Given the description of an element on the screen output the (x, y) to click on. 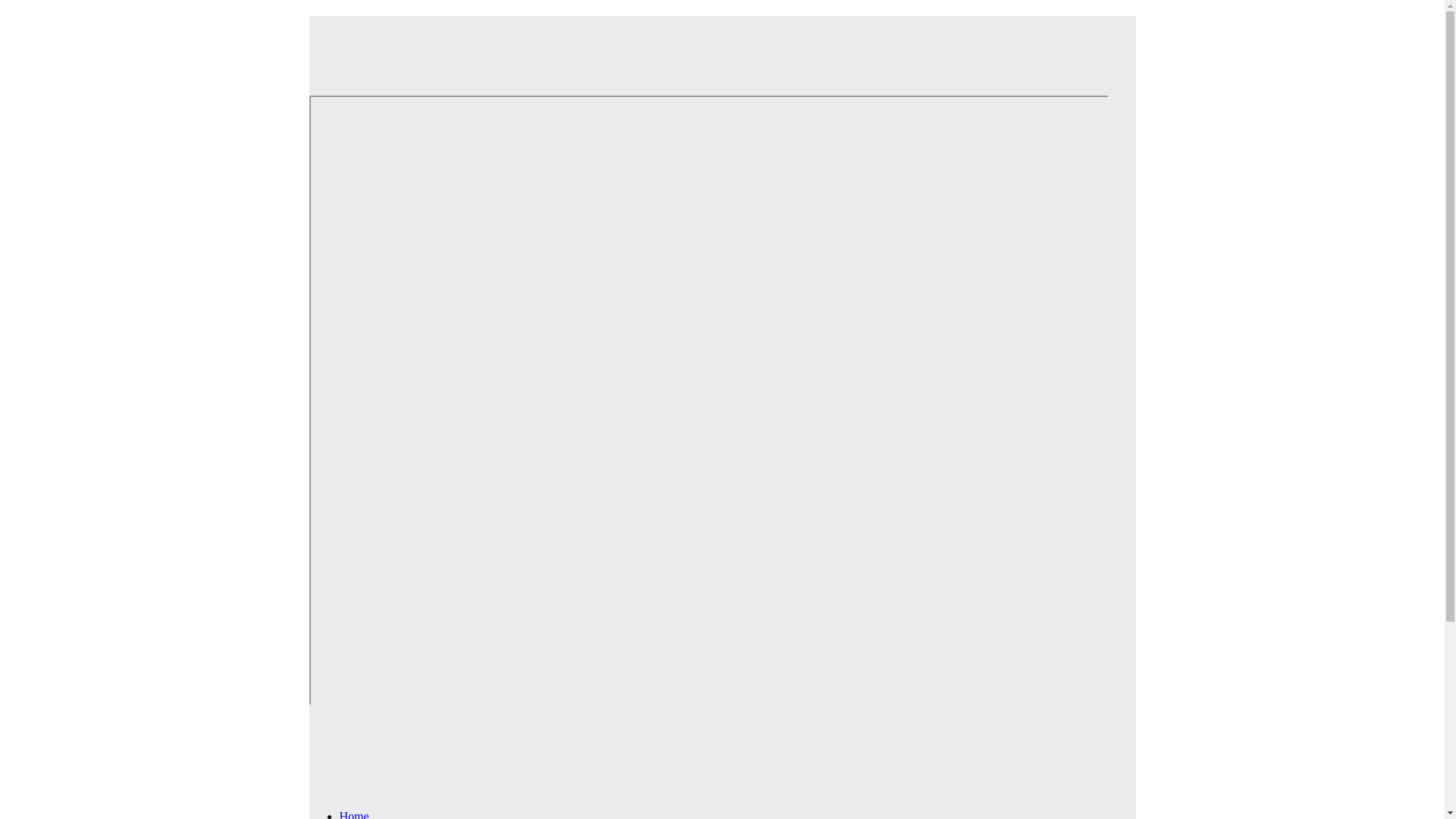
Web Hosting from Just Host Element type: text (707, 44)
